Given the description of an element on the screen output the (x, y) to click on. 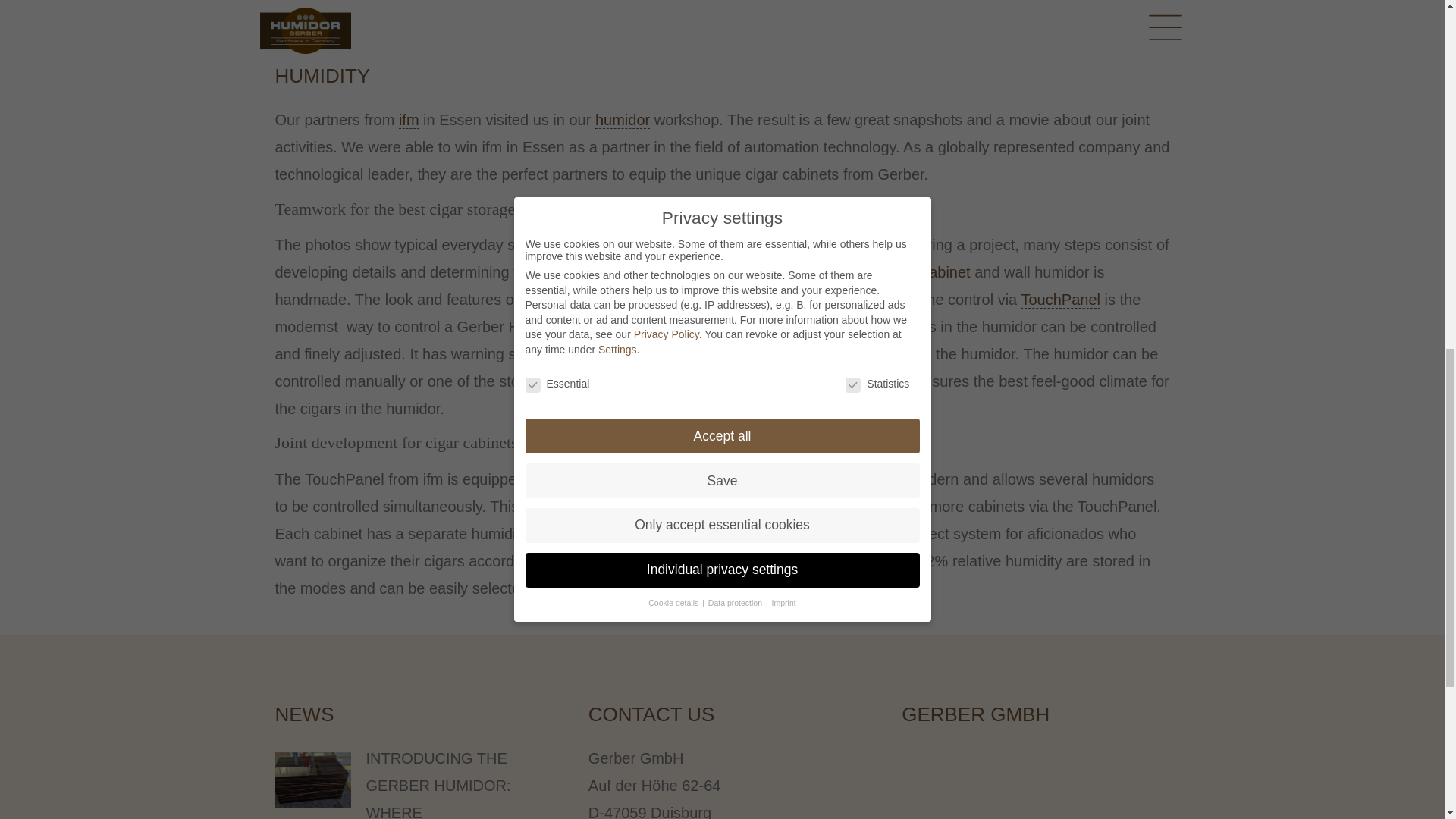
TouchPanel (1060, 299)
cigar cabinet (926, 272)
ifm (408, 119)
ifm (761, 326)
humidor (622, 119)
